Given the description of an element on the screen output the (x, y) to click on. 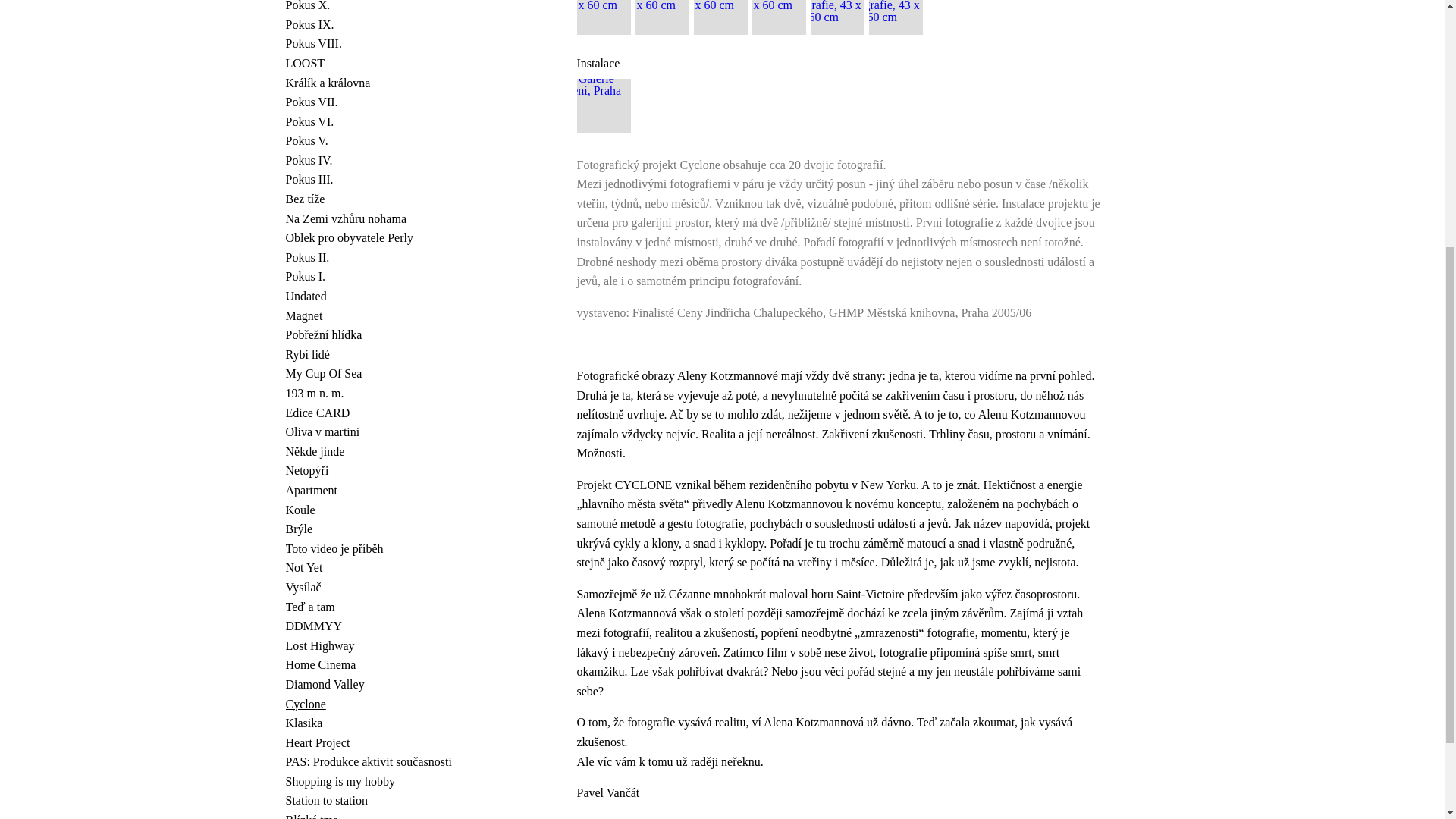
Oblek pro obyvatele Perly (383, 238)
Pokus II. (383, 257)
193 m n. m. (383, 393)
Pokus VIII. (383, 44)
Undated (383, 296)
Pokus I. (383, 276)
Pokus V. (383, 140)
LOOST (383, 63)
Pokus III. (383, 179)
Magnet (383, 315)
